Given the description of an element on the screen output the (x, y) to click on. 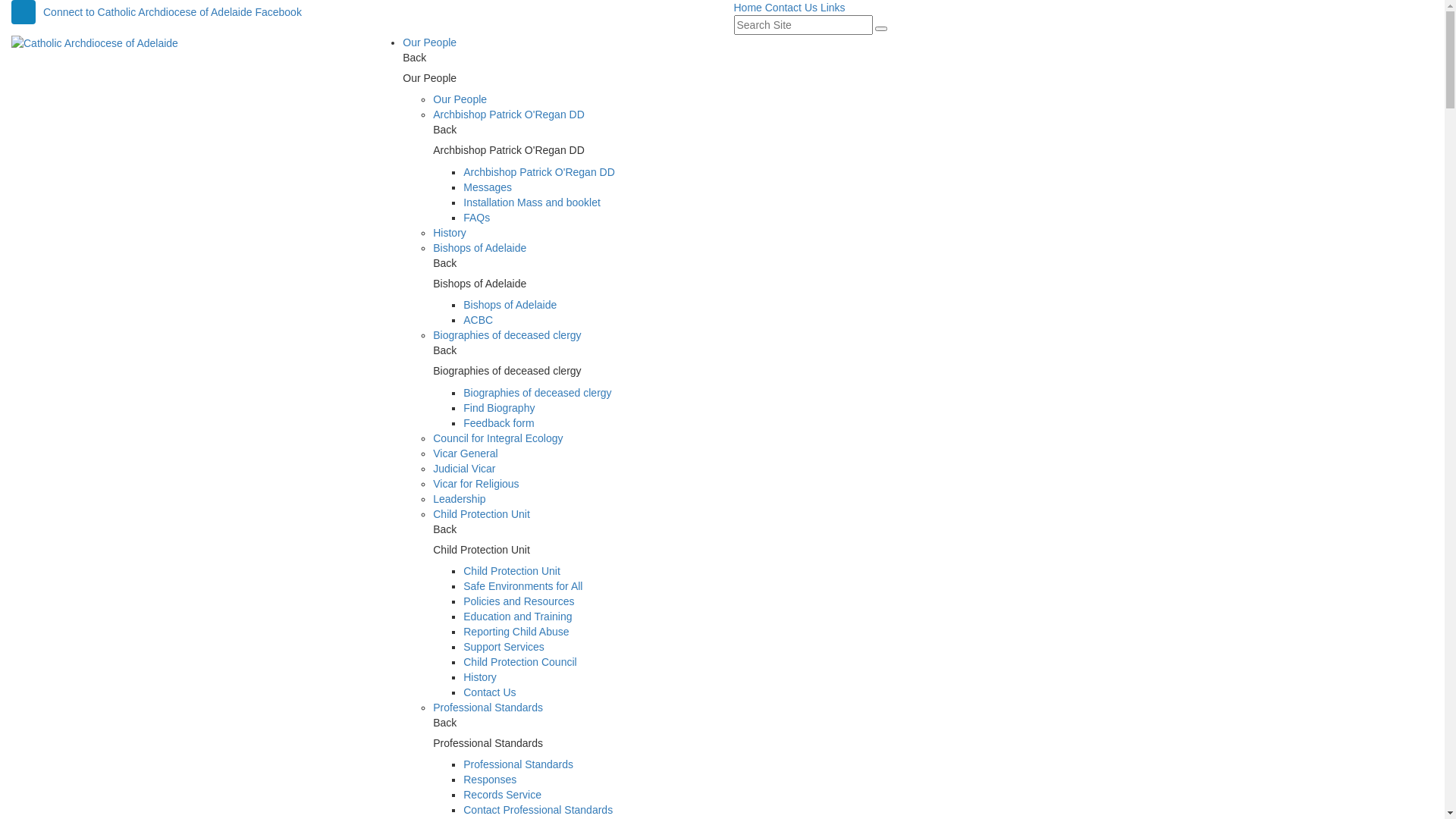
Archbishop Patrick O'Regan DD Element type: text (539, 172)
Installation Mass and booklet Element type: text (531, 202)
ACBC Element type: text (477, 319)
Contact Professional Standards Element type: text (537, 809)
Child Protection Unit Element type: text (511, 570)
Judicial Vicar Element type: text (464, 468)
Home Element type: text (748, 7)
Responses Element type: text (489, 779)
Our People Element type: text (429, 42)
Bishops of Adelaide Element type: text (509, 304)
Vicar for Religious Element type: text (475, 483)
History Element type: text (479, 677)
Council for Integral Ecology Element type: text (497, 438)
Messages Element type: text (487, 187)
Links Element type: text (832, 7)
Professional Standards Element type: text (487, 707)
Feedback form Element type: text (498, 423)
Contact Us Element type: text (791, 7)
Search this Site Element type: hover (881, 28)
Our People Element type: text (459, 99)
Biographies of deceased clergy Element type: text (506, 335)
Support Services Element type: text (503, 646)
Connect to Catholic Archdiocese of Adelaide Facebook Element type: text (361, 12)
Records Service Element type: text (502, 794)
Vicar General Element type: text (465, 453)
Child Protection Council Element type: text (519, 661)
Policies and Resources Element type: text (518, 601)
Education and Training Element type: text (517, 616)
Child Protection Unit Element type: text (481, 514)
Professional Standards Element type: text (518, 764)
Bishops of Adelaide Element type: text (479, 247)
Safe Environments for All Element type: text (522, 586)
Find Biography Element type: text (498, 407)
Contact Us Element type: text (489, 692)
Biographies of deceased clergy Element type: text (537, 392)
Leadership Element type: text (459, 498)
Archbishop Patrick O'Regan DD Element type: text (508, 114)
History Element type: text (449, 232)
FAQs Element type: text (476, 217)
Reporting Child Abuse Element type: text (515, 631)
